Given the description of an element on the screen output the (x, y) to click on. 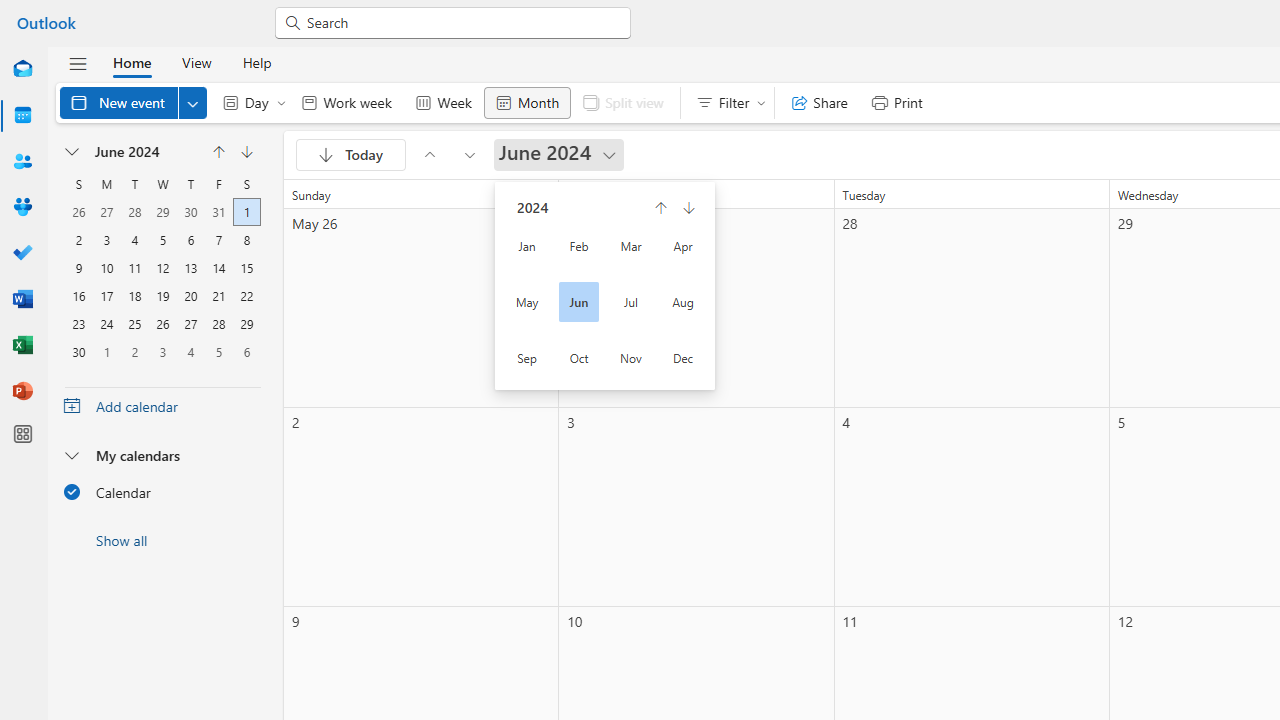
15, June, 2024 (246, 265)
7, June, 2024 (218, 237)
27, June, 2024 (191, 322)
18, June, 2024 (134, 294)
1, July, 2024 (106, 349)
3, July, 2024 (162, 350)
29, June, 2024 (246, 322)
29, June, 2024 (246, 322)
13, June, 2024 (191, 266)
Add calendar (162, 406)
8, June, 2024 (246, 237)
Hide navigation pane (77, 63)
June 2024 (559, 154)
